Given the description of an element on the screen output the (x, y) to click on. 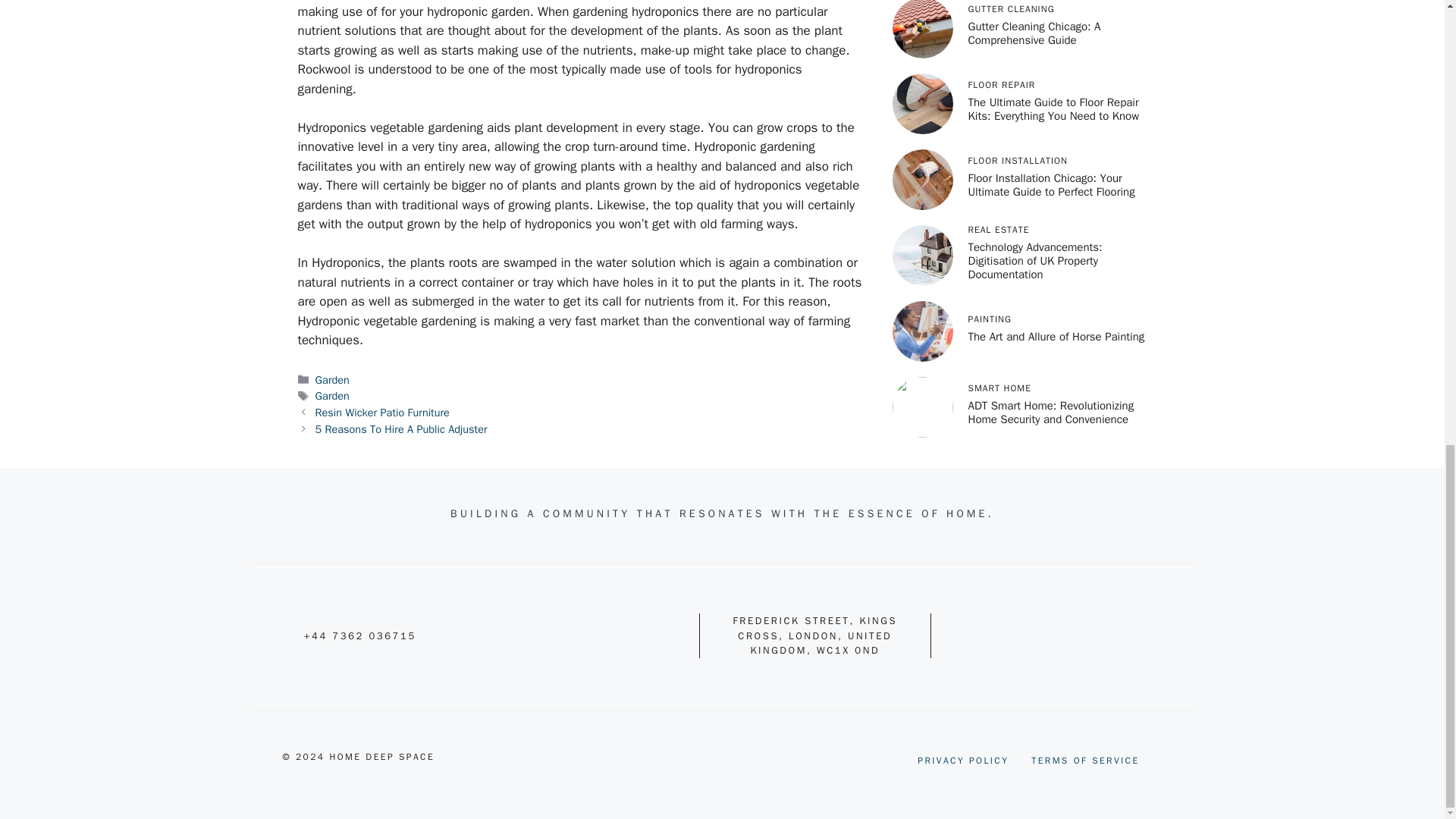
PRIVACY POLICY (963, 760)
Garden (332, 379)
TERMS OF SERVICE (1084, 760)
Garden (332, 395)
Resin Wicker Patio Furniture (382, 412)
5 Reasons To Hire A Public Adjuster (401, 428)
